Given the description of an element on the screen output the (x, y) to click on. 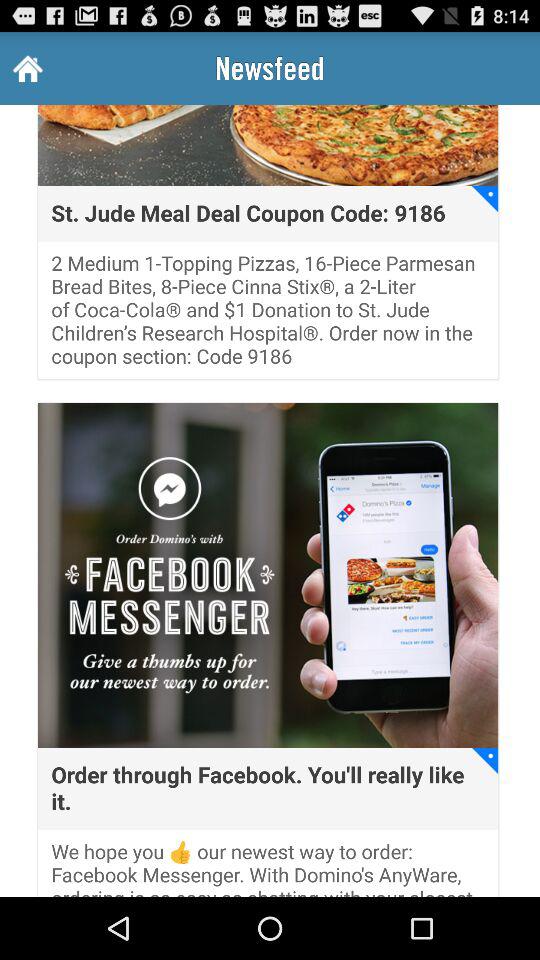
launch the item to the right of the st jude meal app (485, 198)
